Given the description of an element on the screen output the (x, y) to click on. 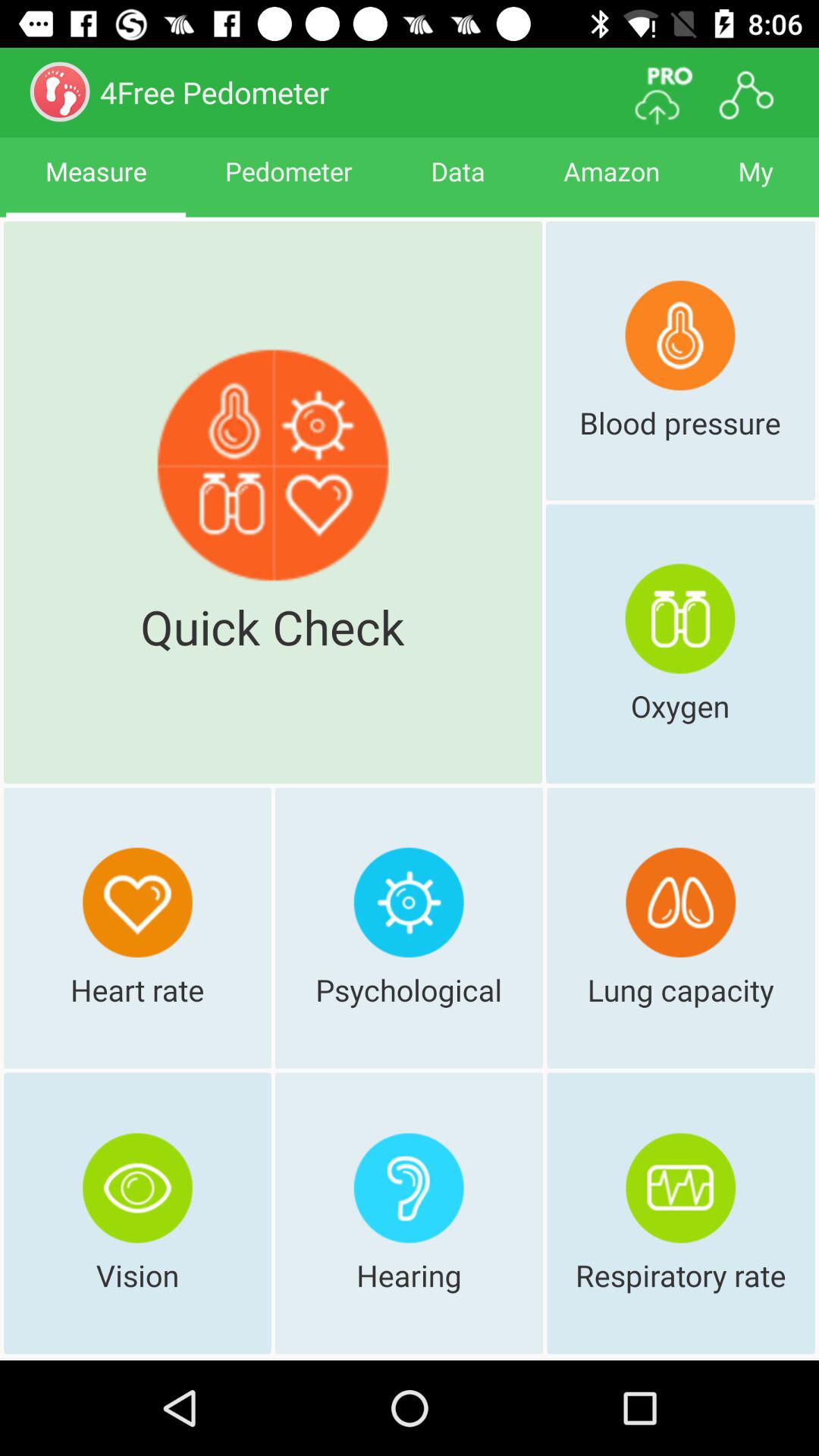
select app to the right of pedometer (457, 185)
